Given the description of an element on the screen output the (x, y) to click on. 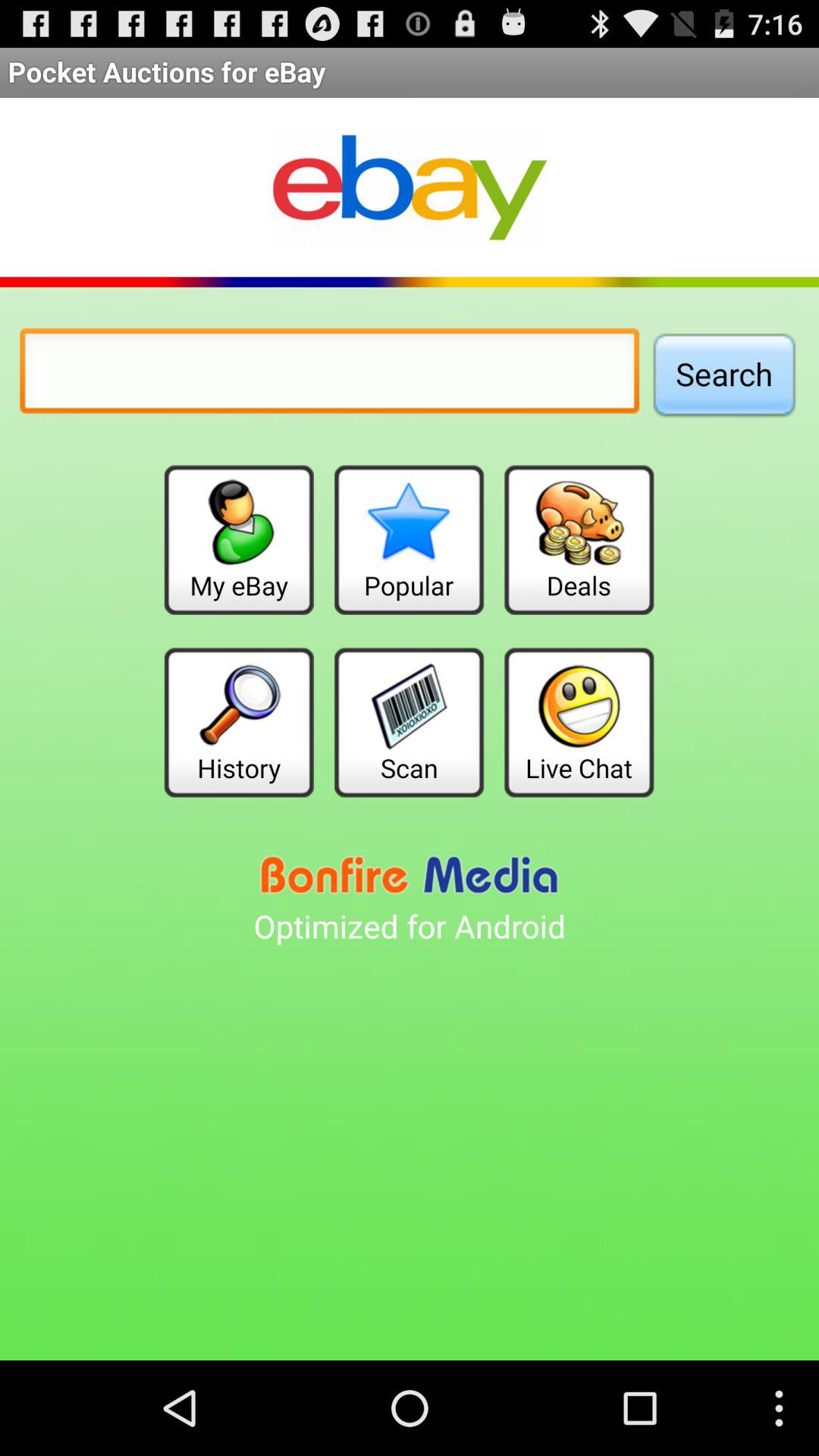
select the item to the left of scan button (238, 722)
